Given the description of an element on the screen output the (x, y) to click on. 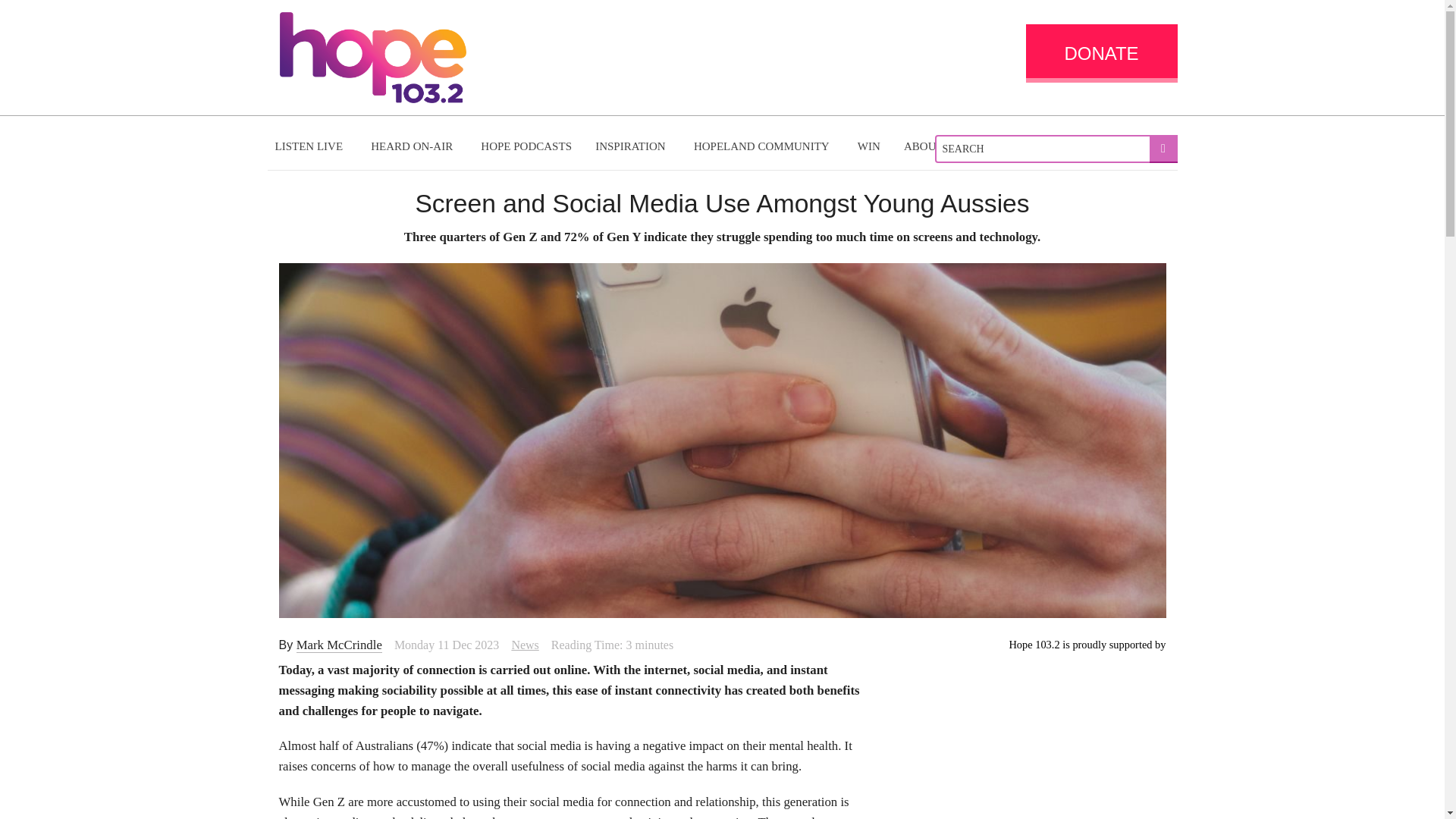
INSPIRATION (633, 146)
LISTEN LIVE (310, 146)
DONATE (1100, 53)
HEARD ON-AIR (413, 146)
HOPELAND COMMUNITY (763, 146)
HOPE PODCASTS (526, 146)
